Given the description of an element on the screen output the (x, y) to click on. 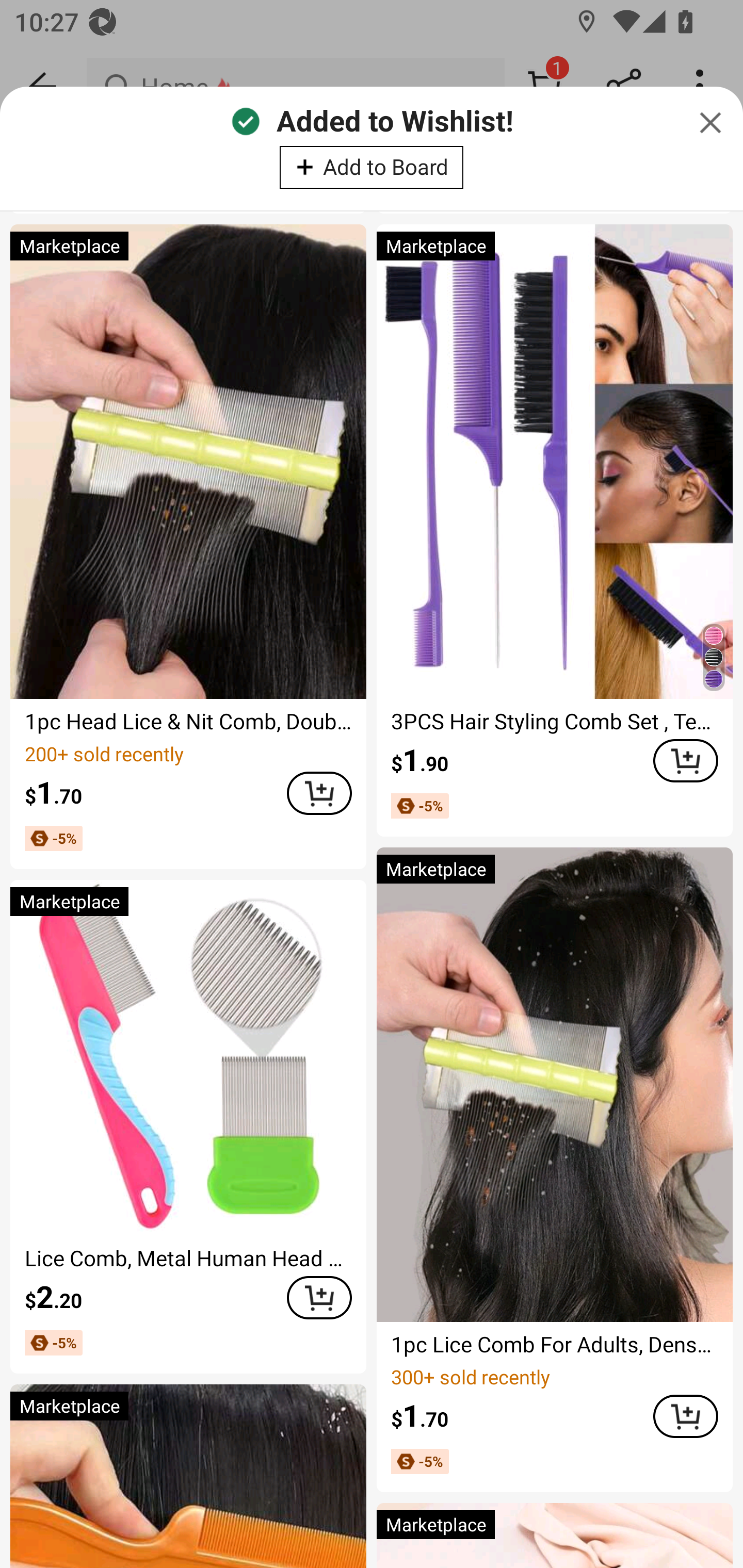
Add to Board (371, 166)
ADD TO CART (685, 760)
ADD TO CART (319, 793)
ADD TO CART (319, 1297)
ADD TO CART (685, 1415)
